Given the description of an element on the screen output the (x, y) to click on. 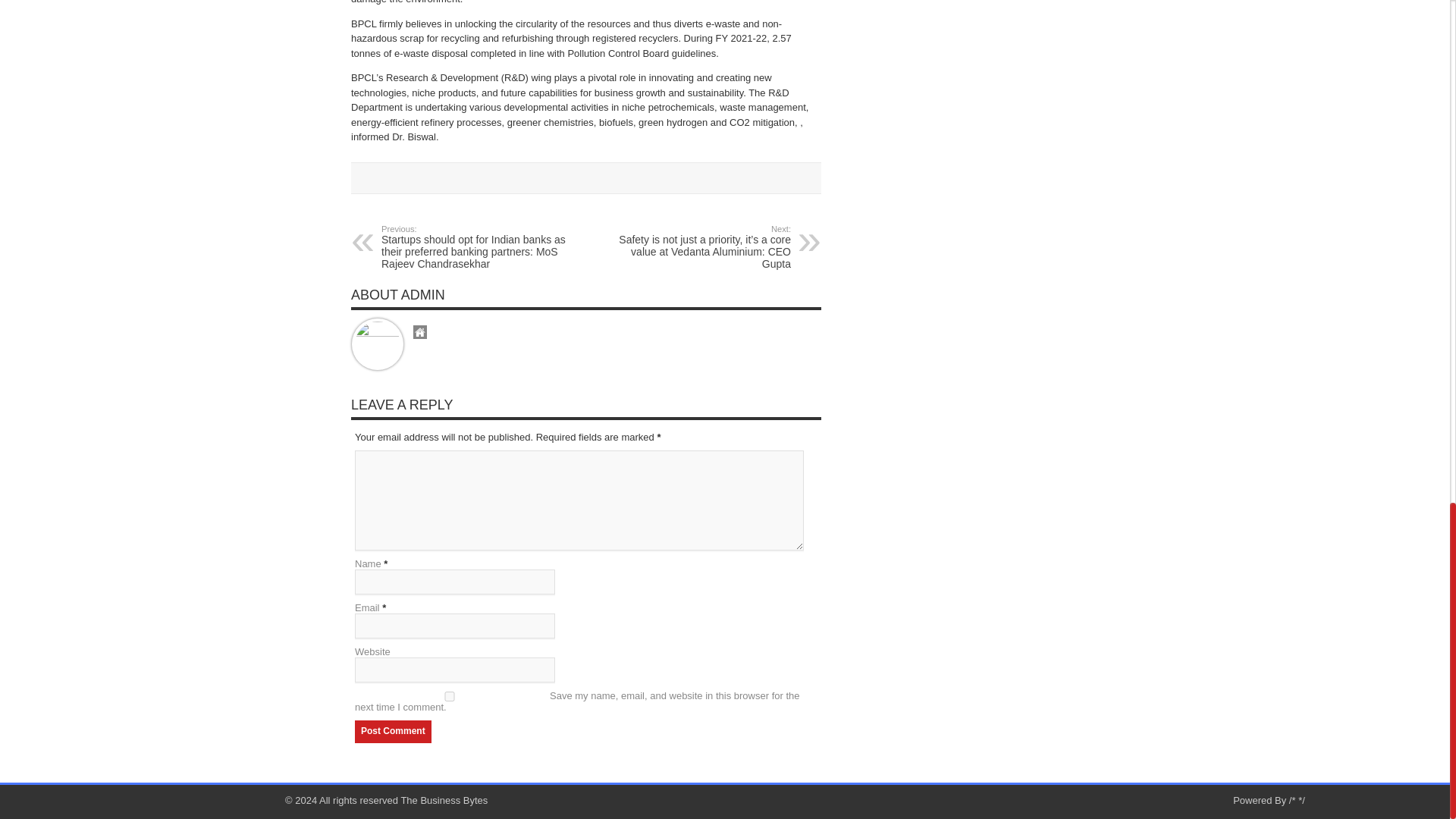
Post Comment (392, 731)
Post Comment (392, 731)
yes (449, 696)
